Given the description of an element on the screen output the (x, y) to click on. 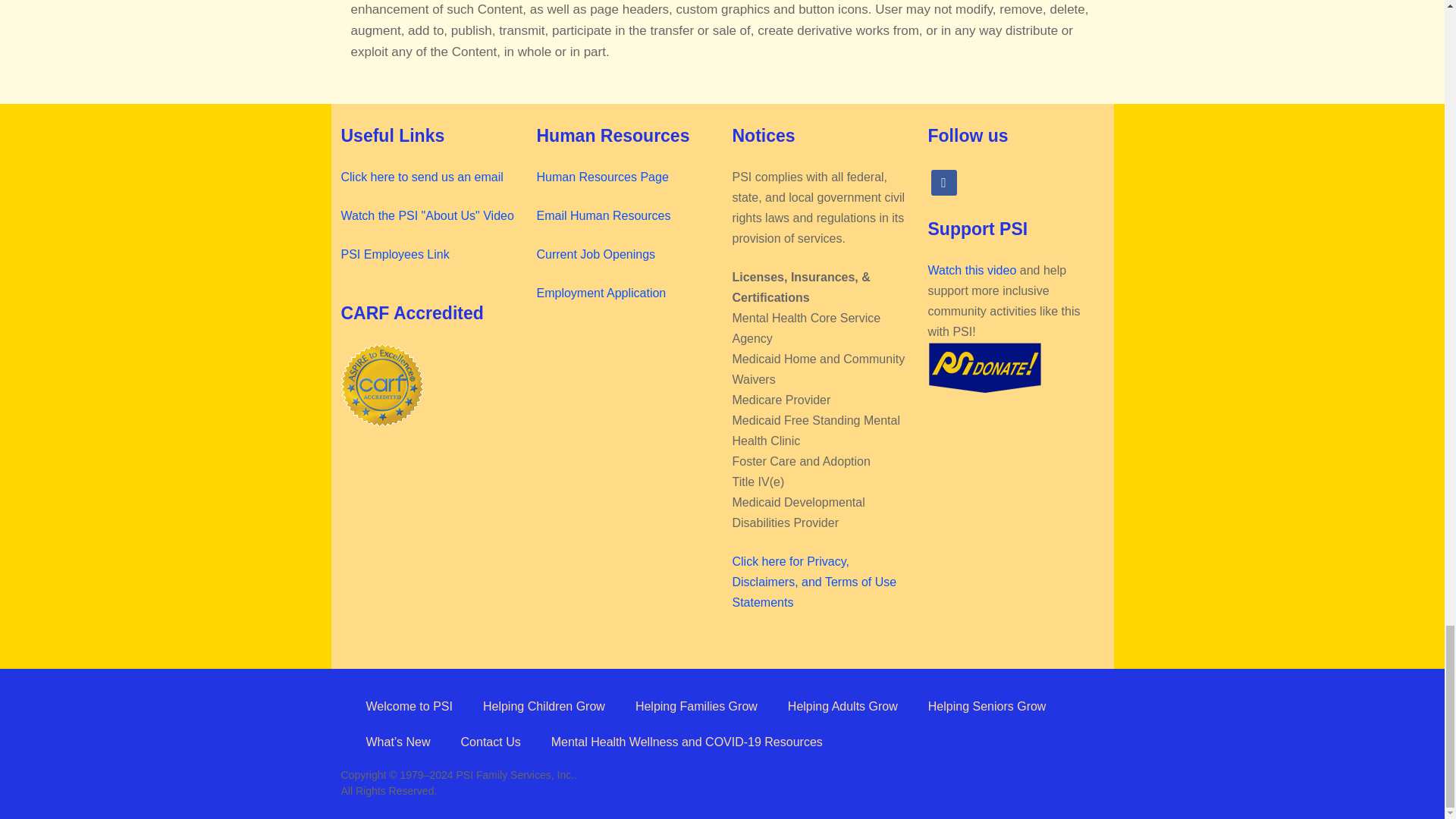
Helping Children Grow (543, 705)
Helping Adults Grow (842, 705)
Click here to send us an email (421, 176)
Welcome to PSI (408, 705)
Current Job Openings (596, 254)
Watch the PSI "About Us" Video (426, 215)
Mental Health Wellness and COVID-19 Resources (686, 741)
Employment Application (601, 292)
Watch this video (972, 269)
Human Resources Page (602, 176)
Email Human Resources (604, 215)
Helping Seniors Grow (986, 705)
Contact Us (490, 741)
PayPal - The safer, easier way to pay online! (985, 367)
